Given the description of an element on the screen output the (x, y) to click on. 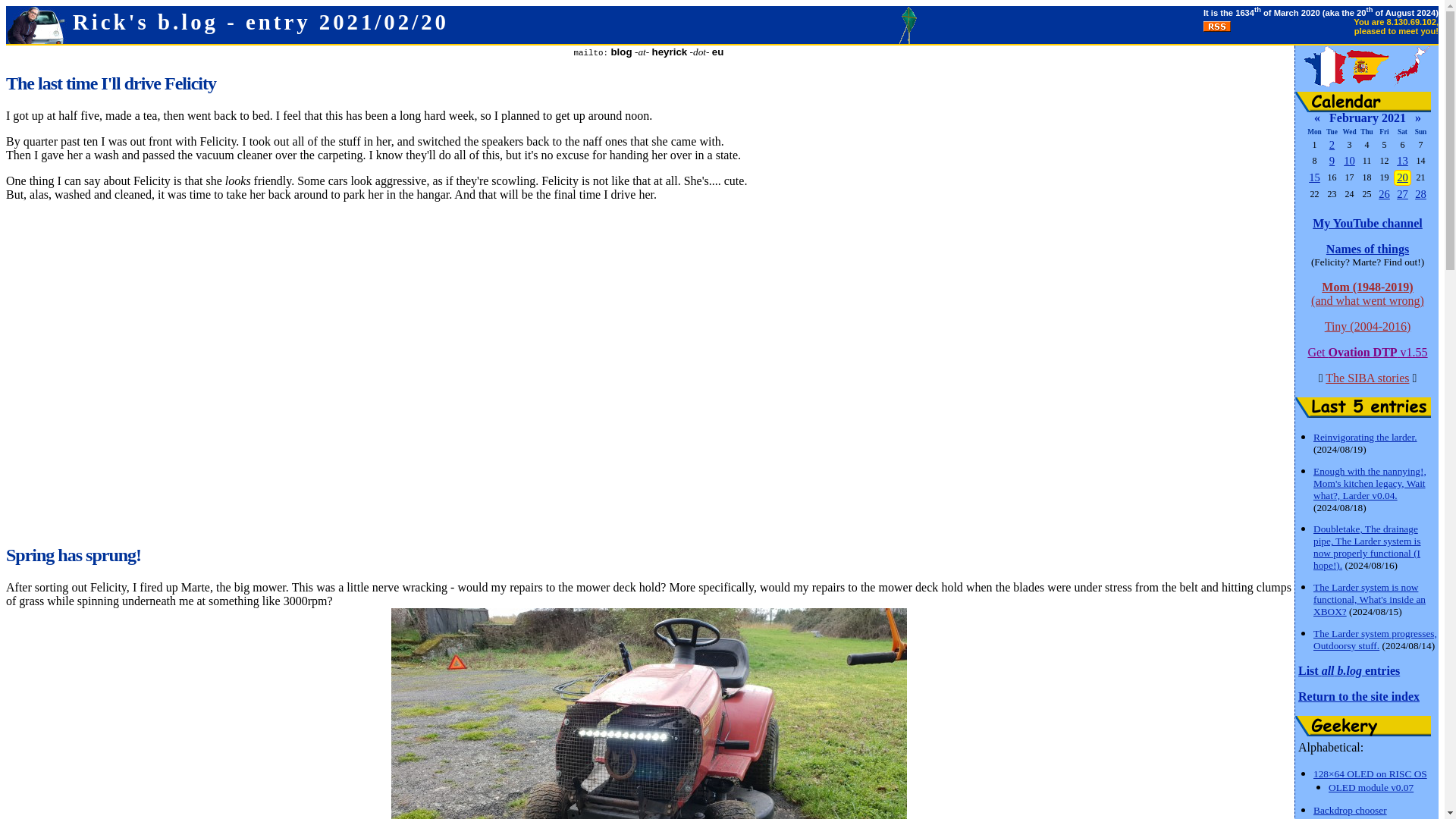
The last time I'll drive Felicity. Spring has sprung! (1401, 177)
26 (1384, 193)
Names of things (1367, 248)
List all b.log entries (1348, 670)
Last 5 entries (1363, 407)
Return to the site index (1358, 696)
Get Ovation DTP v1.55 (1366, 351)
13 (1401, 160)
An unwanted day off work. Anna and The Snow. (1349, 160)
